Given the description of an element on the screen output the (x, y) to click on. 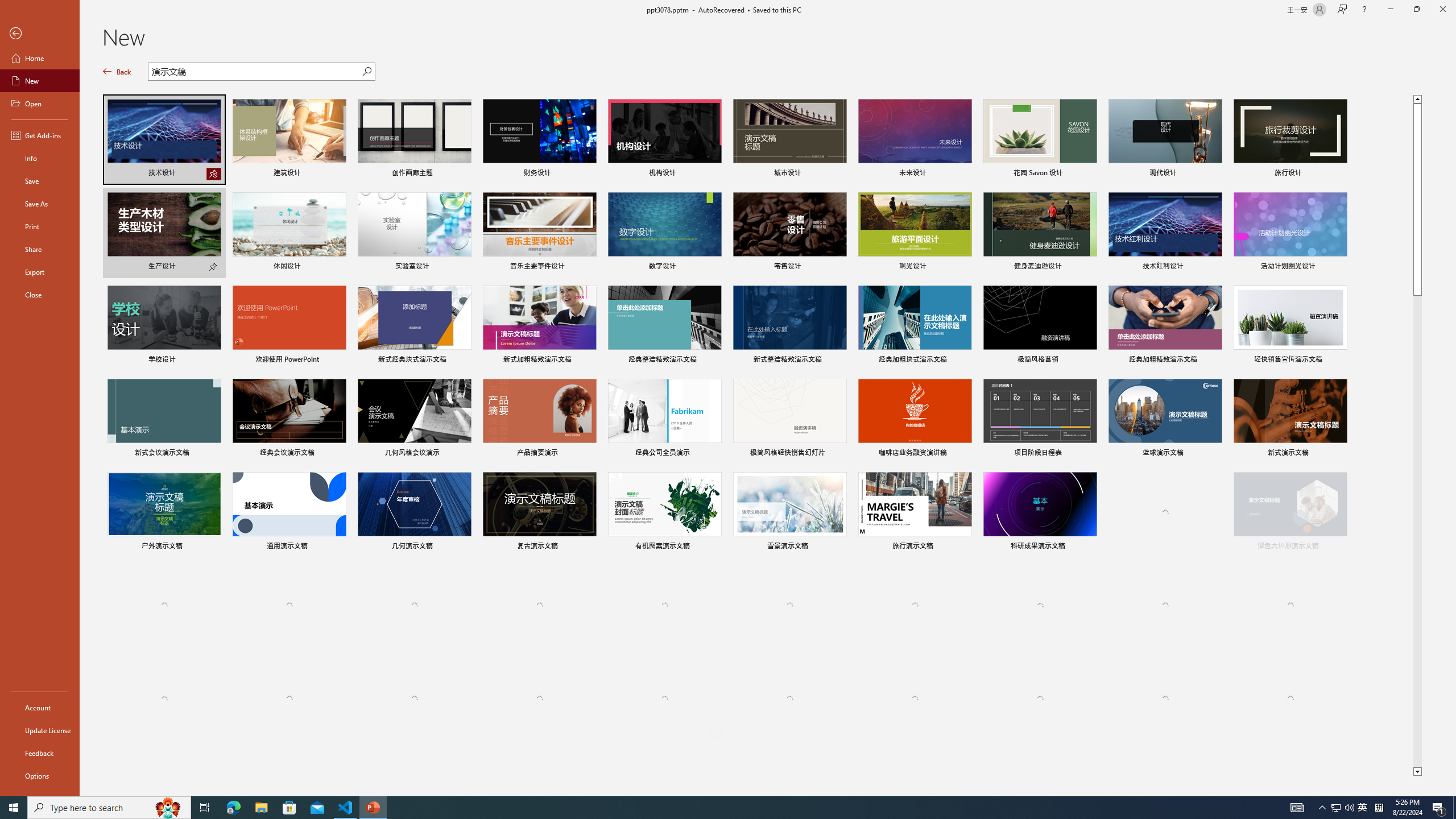
Export (40, 271)
Back (117, 71)
Print (40, 225)
